Given the description of an element on the screen output the (x, y) to click on. 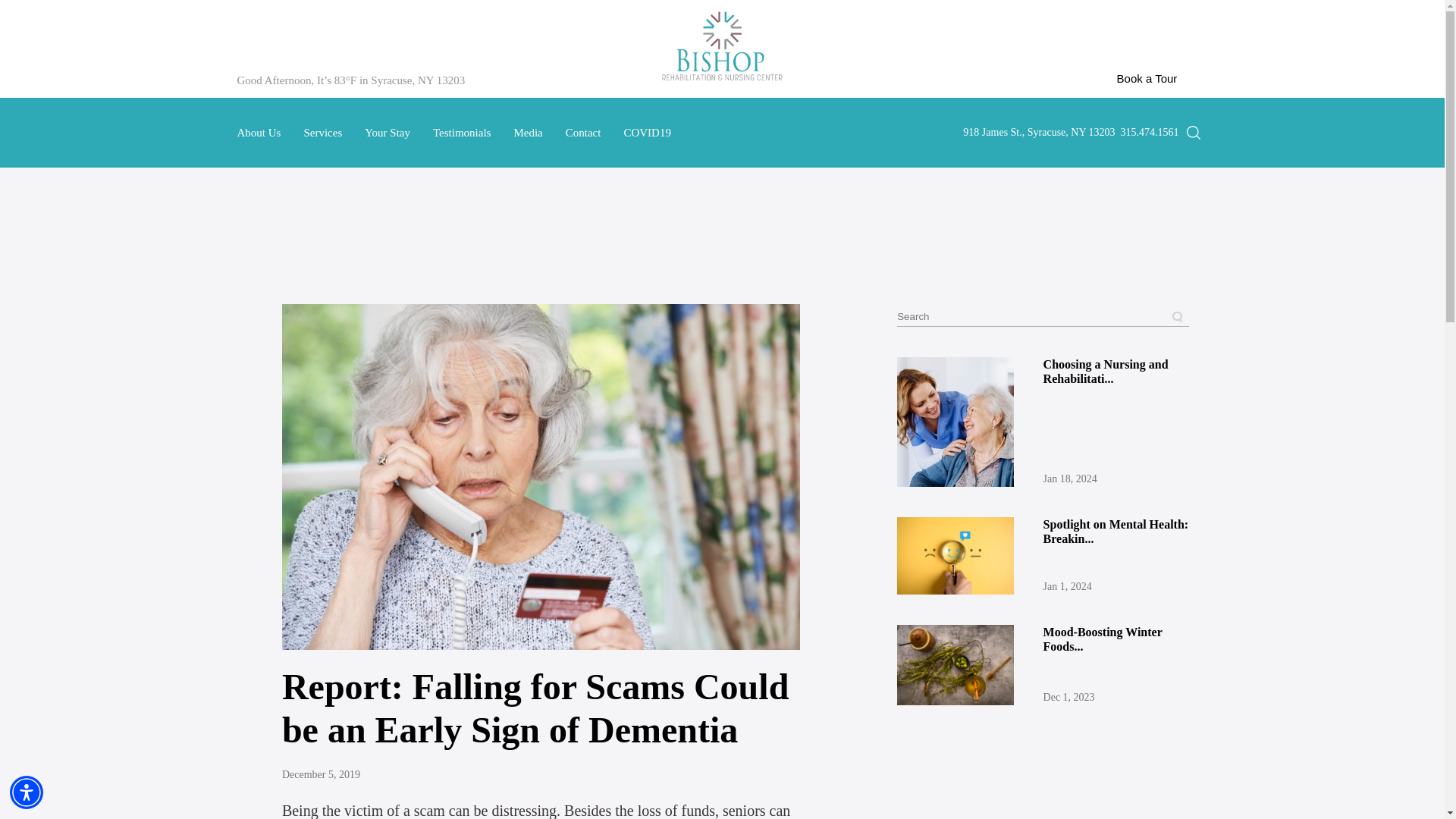
COVID19 (647, 132)
Search (1172, 328)
Your Stay (387, 132)
Accessibility Menu (26, 792)
Search (1172, 316)
Book a Tour (1146, 78)
Book a Tour (1146, 77)
918 James St., Syracuse, NY 13203 (1038, 132)
Testimonials (461, 132)
315.474.1561 (1150, 132)
About Us (258, 132)
Services (322, 132)
Contact (583, 132)
Search (1191, 160)
